Given the description of an element on the screen output the (x, y) to click on. 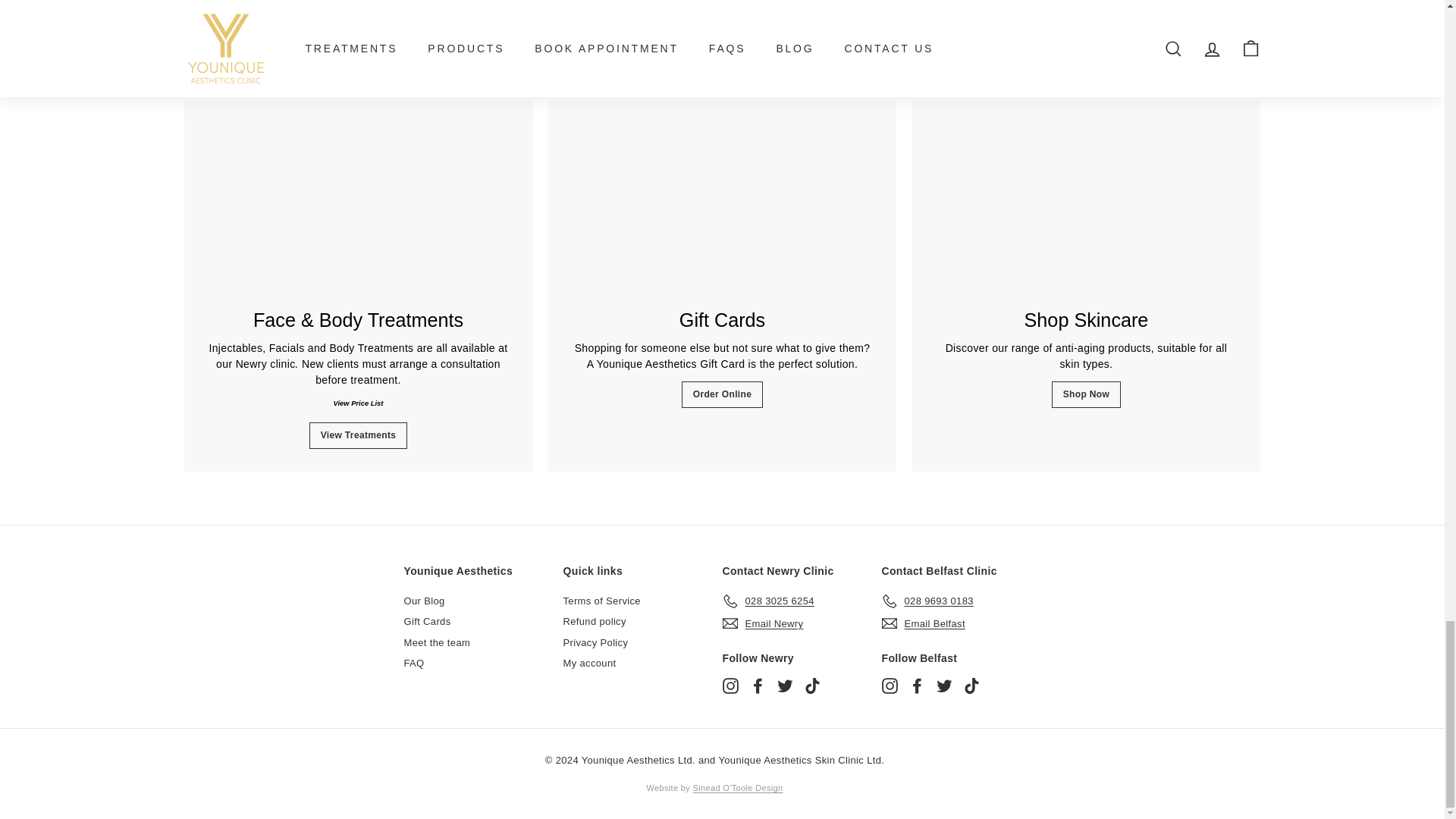
Younique Aesthetics on Facebook (757, 685)
Younique Aesthetics on TikTok (970, 685)
Younique Aesthetics on Twitter (784, 685)
Younique Aesthetics on Facebook (916, 685)
Younique Aesthetics on TikTok (811, 685)
Younique Aesthetics on Instagram (730, 685)
Younique Aesthetics on Instagram (888, 685)
Younique Aesthetics on Twitter (944, 685)
